Given the description of an element on the screen output the (x, y) to click on. 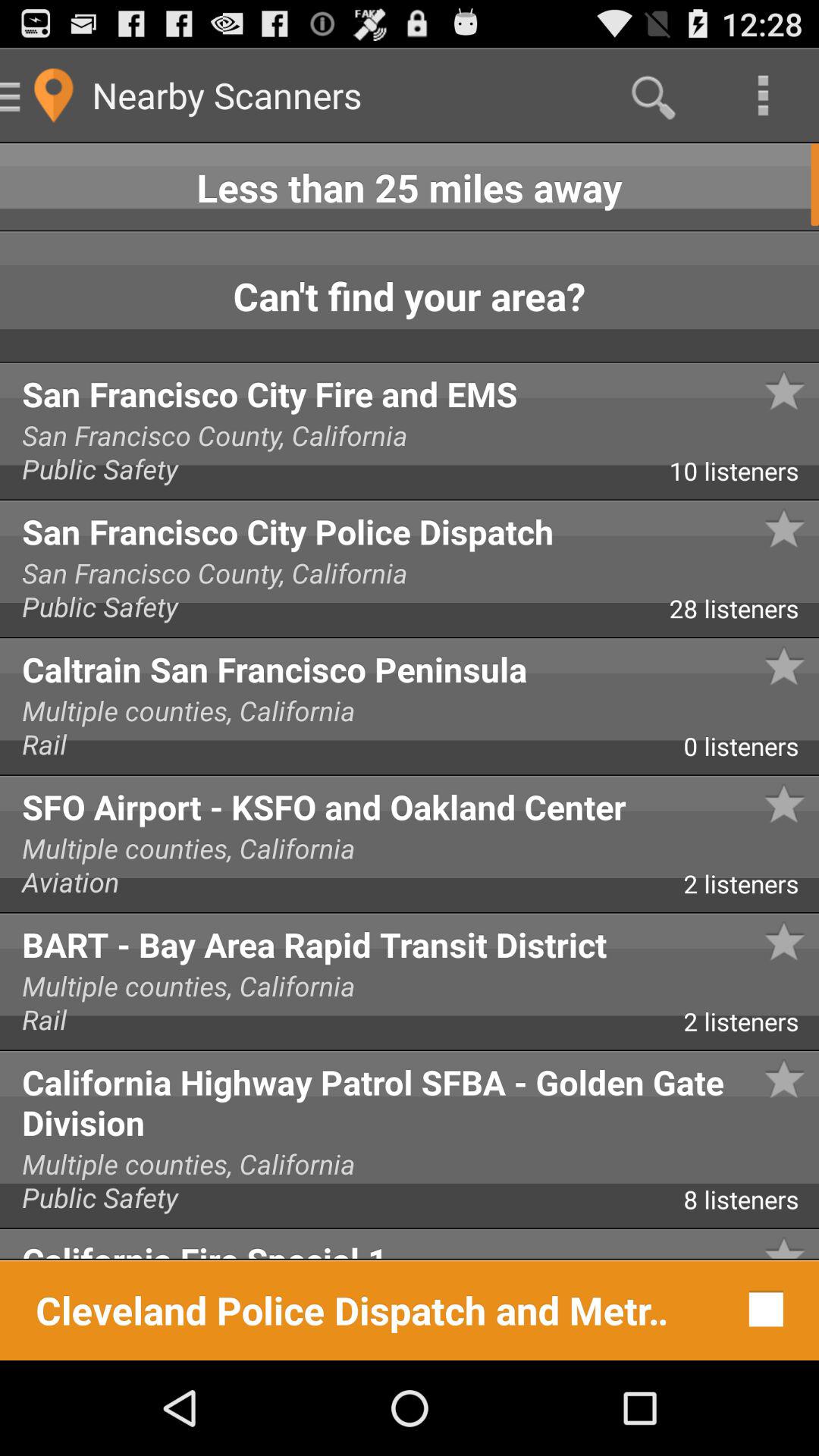
select the app above the california fire special icon (751, 1204)
